Given the description of an element on the screen output the (x, y) to click on. 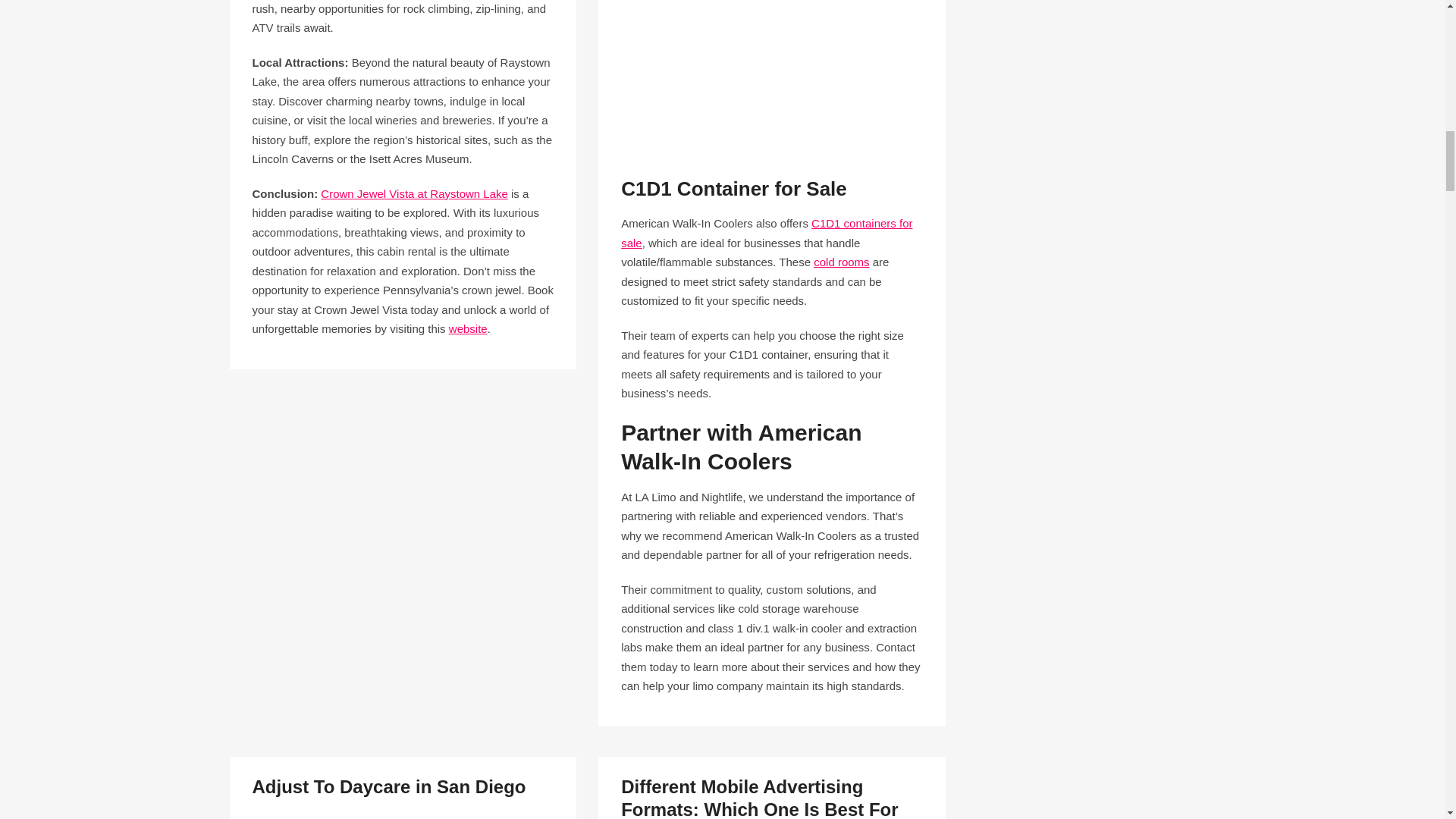
website (467, 328)
Adjust To Daycare in San Diego (388, 786)
cold rooms (841, 261)
Crown Jewel Vista at Raystown Lake (414, 193)
C1D1 containers for sale (766, 233)
Adjust To Daycare in San Diego (388, 786)
